Given the description of an element on the screen output the (x, y) to click on. 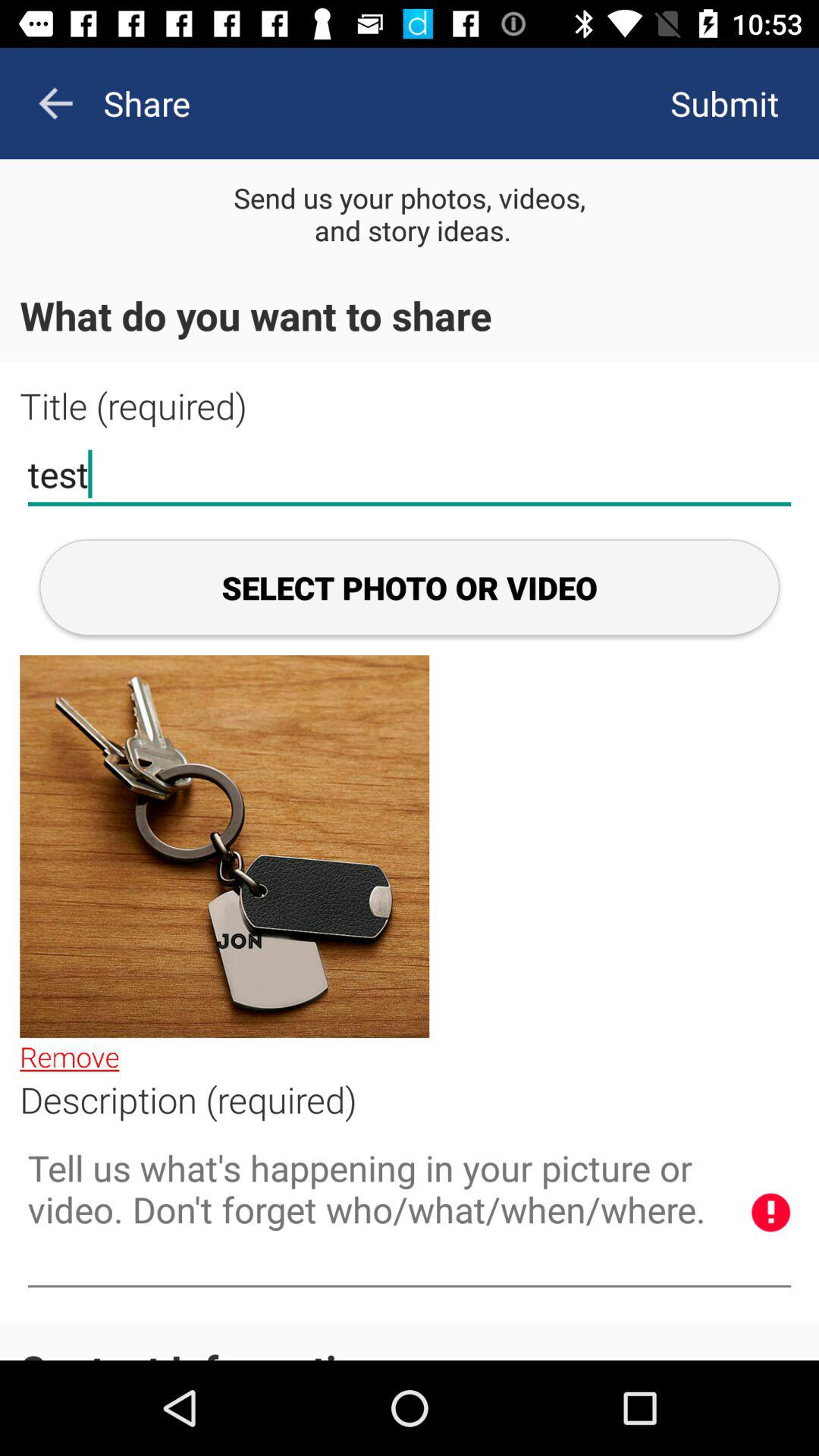
go back (55, 103)
